Given the description of an element on the screen output the (x, y) to click on. 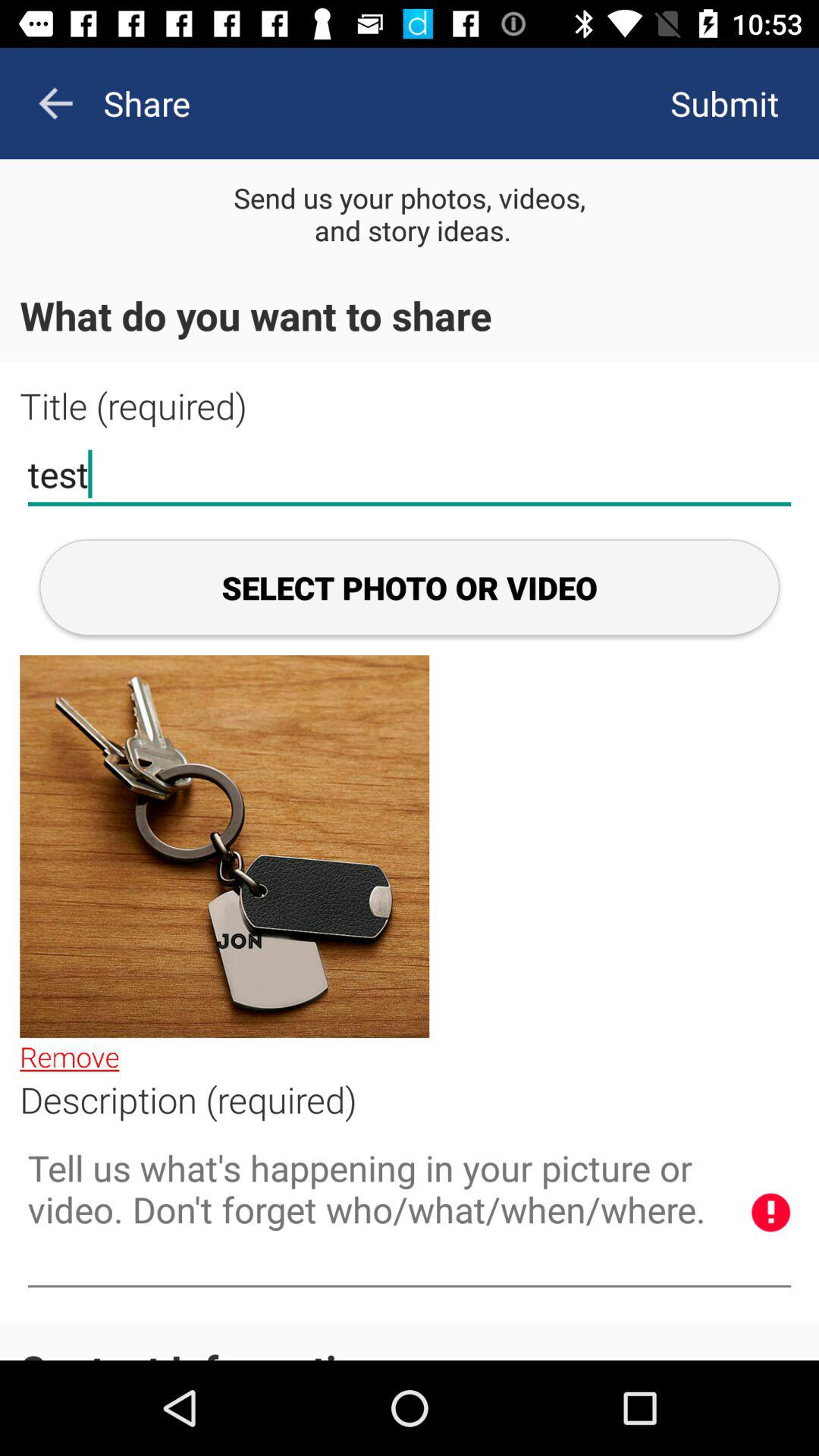
go back (55, 103)
